Given the description of an element on the screen output the (x, y) to click on. 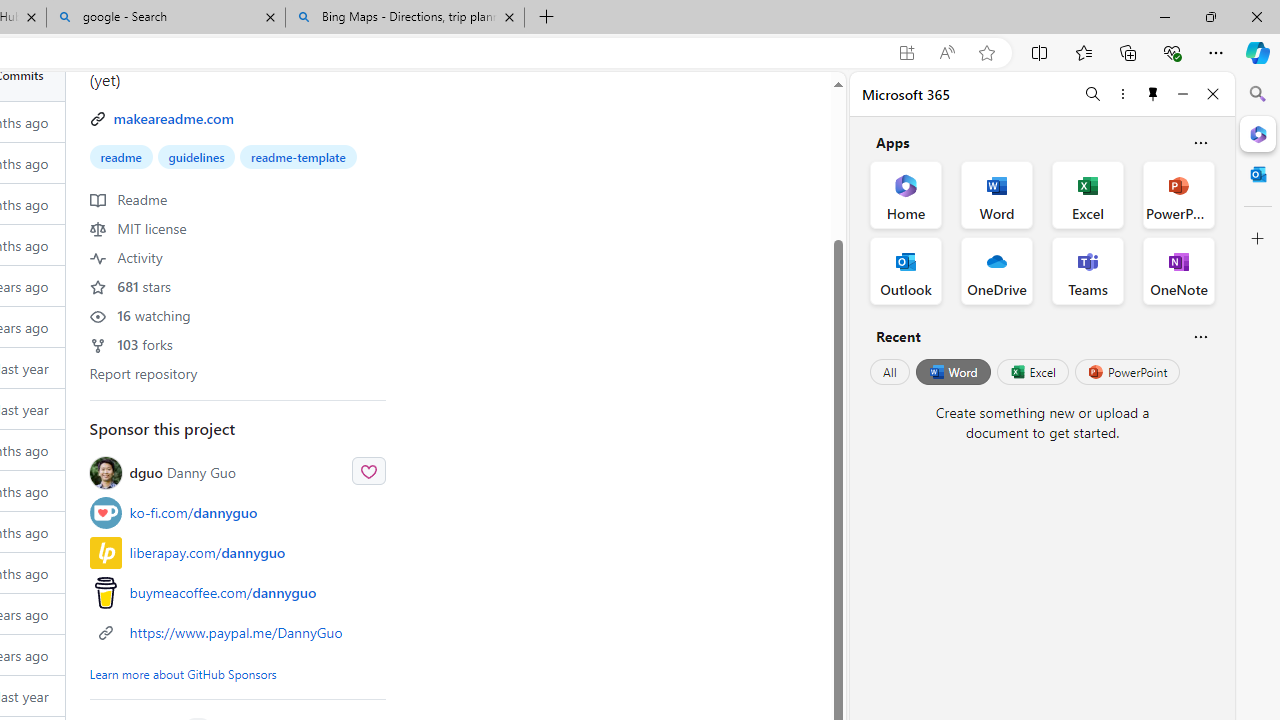
Microsoft 365 (1258, 133)
liberapay.com/dannyguo (207, 552)
liberapay (105, 551)
google - Search (166, 17)
Sponsor @dguo (368, 470)
Close (1213, 93)
Activity (125, 256)
All (890, 372)
Read aloud this page (Ctrl+Shift+U) (946, 53)
Settings and more (Alt+F) (1215, 52)
16 watching (139, 314)
@dguo (109, 471)
makeareadme.com (173, 118)
PowerPoint (1127, 372)
dguo Danny Guo (237, 471)
